Given the description of an element on the screen output the (x, y) to click on. 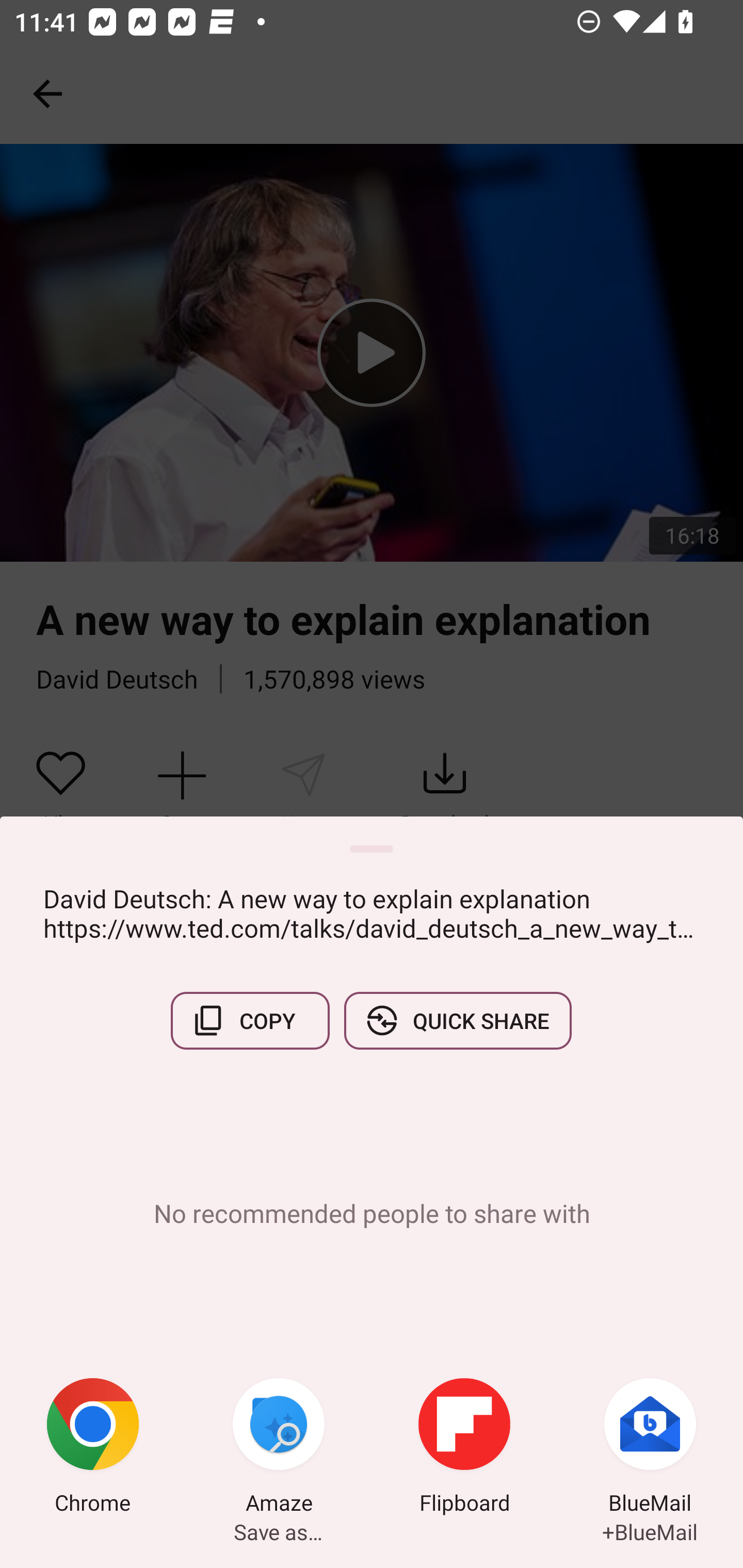
COPY (249, 1020)
QUICK SHARE (457, 1020)
Chrome (92, 1448)
Amaze Save as… (278, 1448)
Flipboard (464, 1448)
BlueMail +BlueMail (650, 1448)
